Given the description of an element on the screen output the (x, y) to click on. 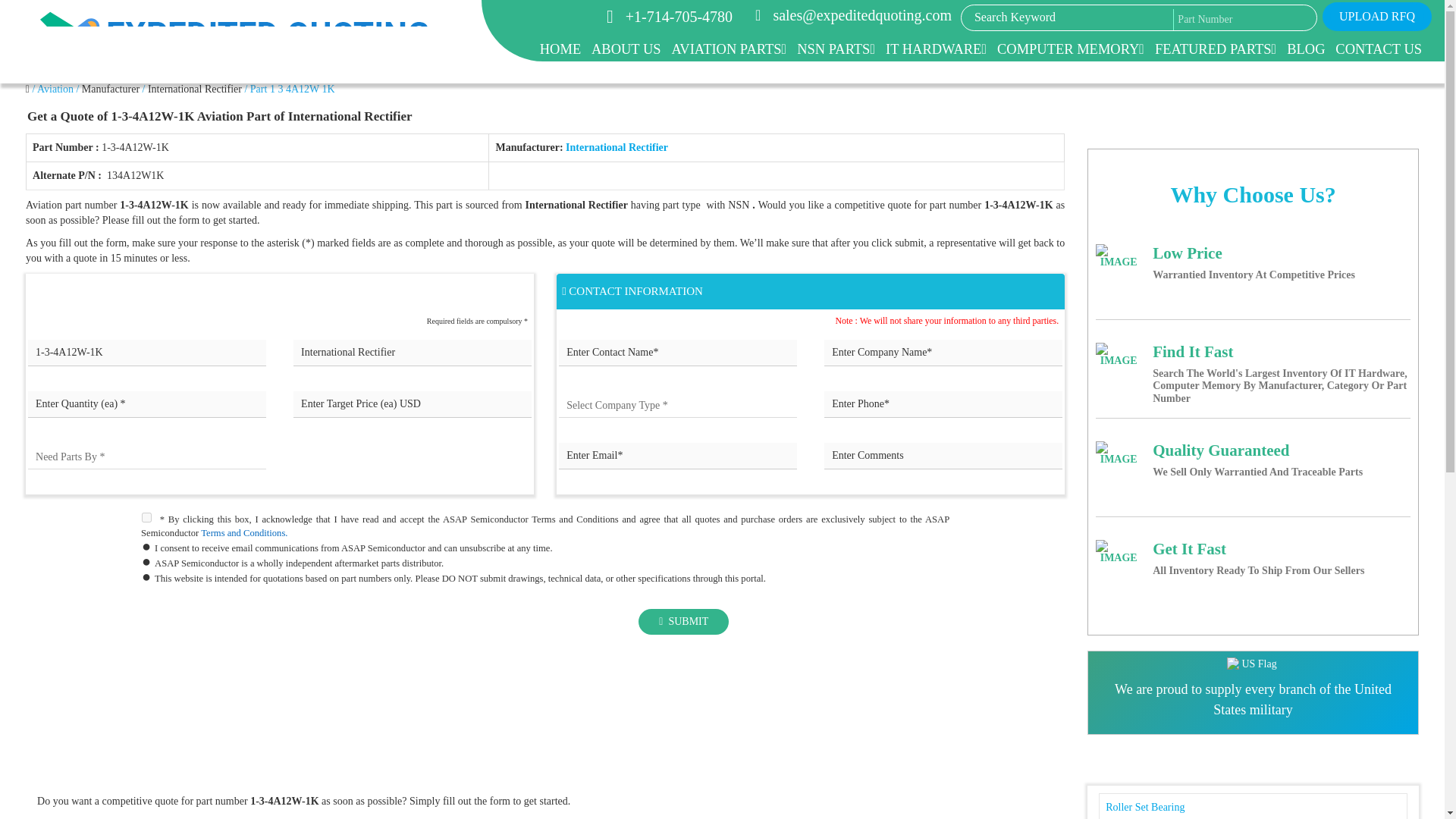
1-3-4A12W-1K (146, 352)
AVIATION PARTS (728, 48)
NSN PARTS (836, 48)
disclaimer (544, 721)
on (146, 517)
International Rectifier (412, 352)
FEATURED PARTS (1215, 48)
HOME (560, 48)
UPLOAD RFQ (1376, 16)
COMPUTER MEMORY (1070, 48)
